Given the description of an element on the screen output the (x, y) to click on. 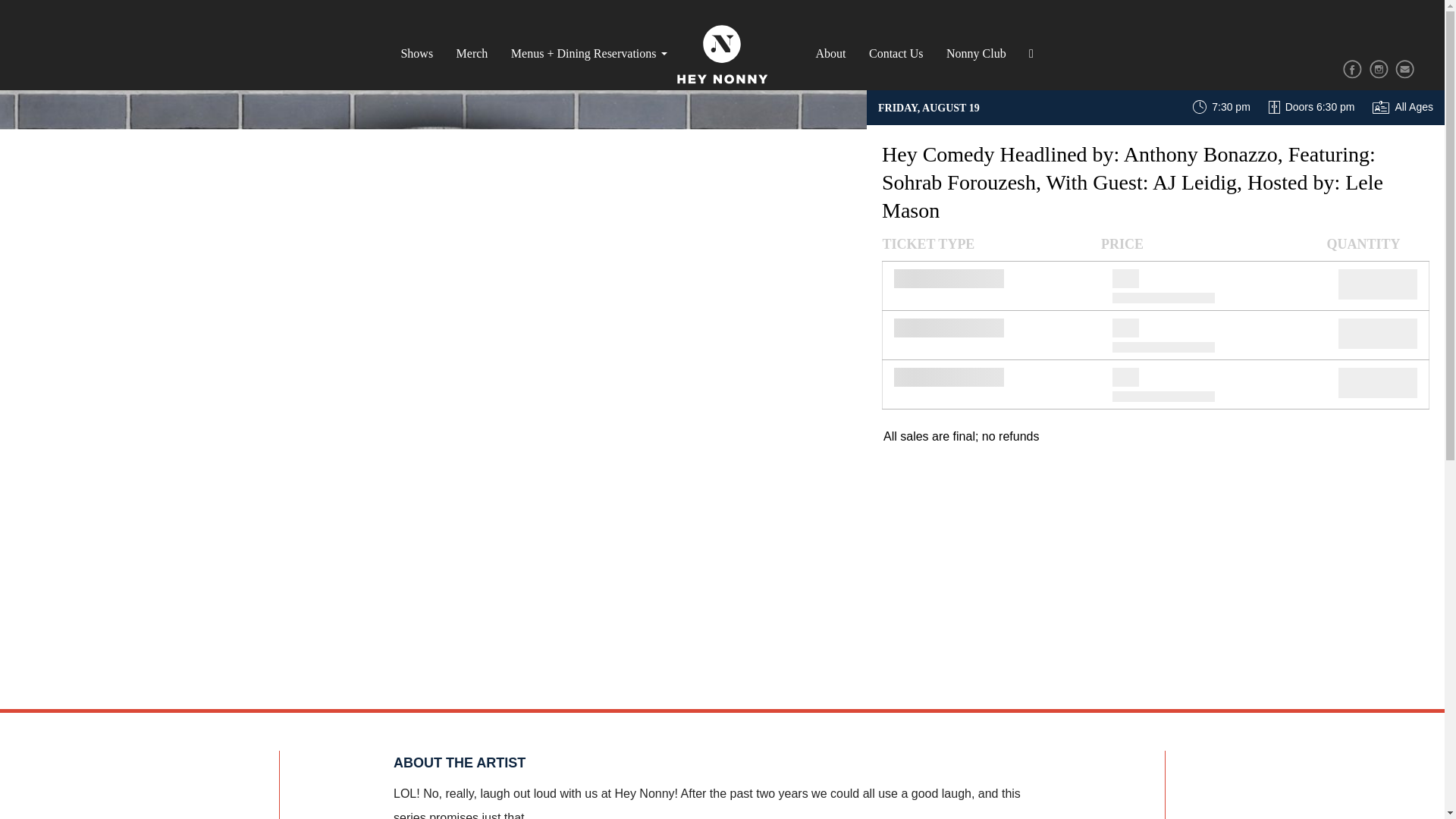
About (830, 52)
Shows (416, 52)
Contact Us (896, 52)
Nonny Club (976, 52)
Merch (472, 52)
